Given the description of an element on the screen output the (x, y) to click on. 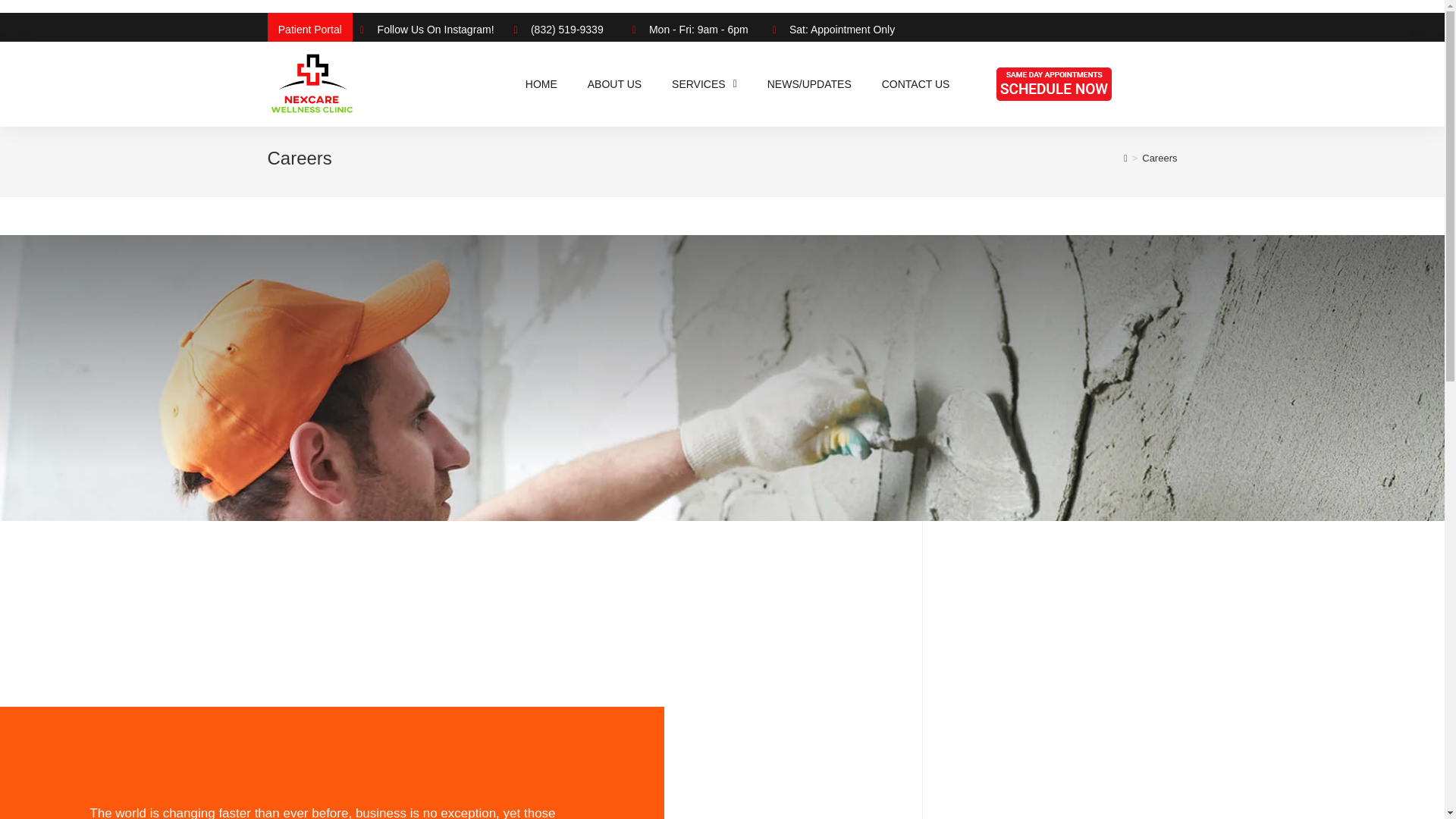
CONTACT US (915, 83)
Careers (1158, 157)
Follow Us On Instagram! (428, 29)
SERVICES (704, 83)
ABOUT US (614, 83)
Patient Portal (310, 29)
HOME (541, 83)
